Given the description of an element on the screen output the (x, y) to click on. 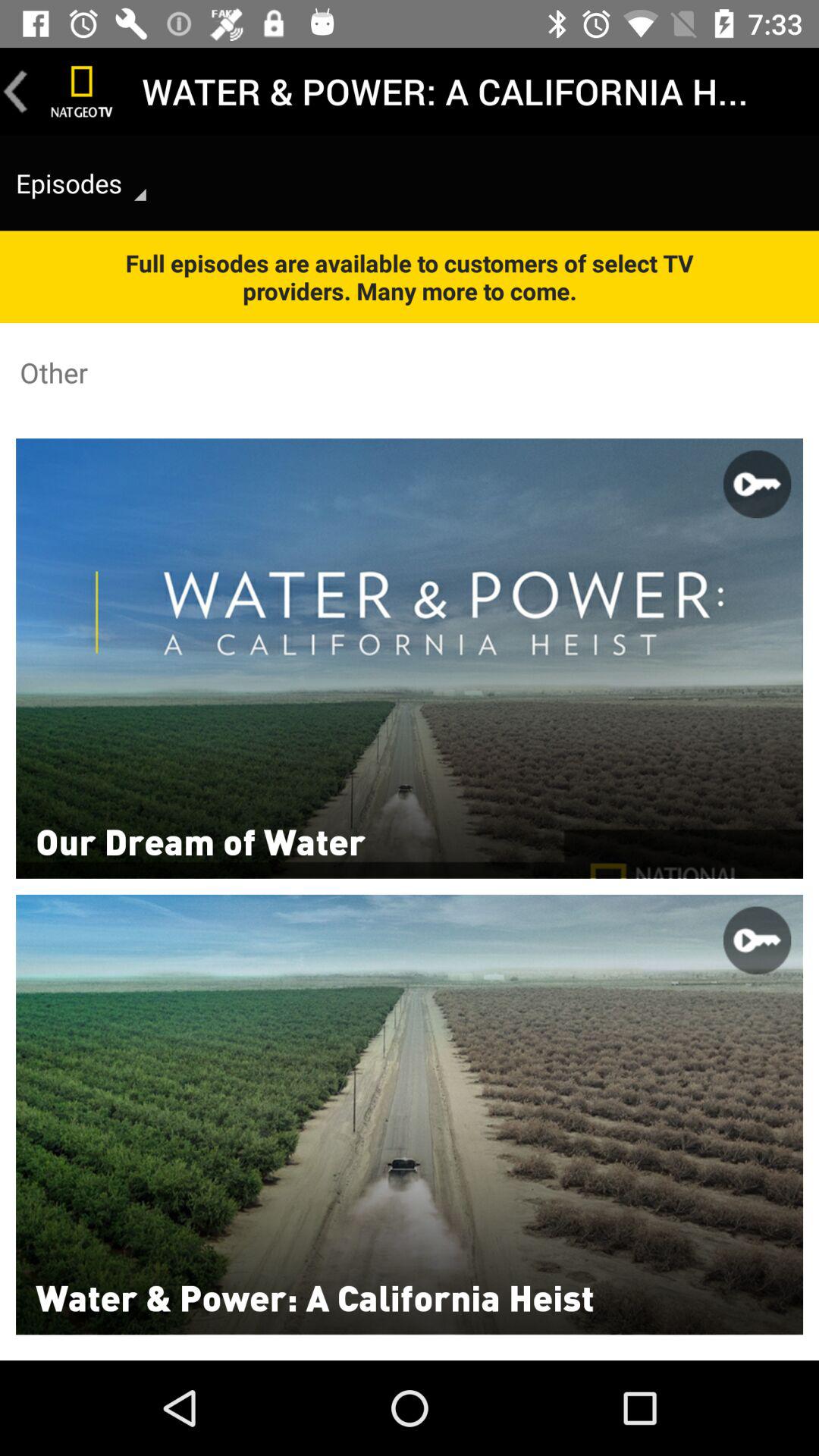
go back (15, 91)
